Given the description of an element on the screen output the (x, y) to click on. 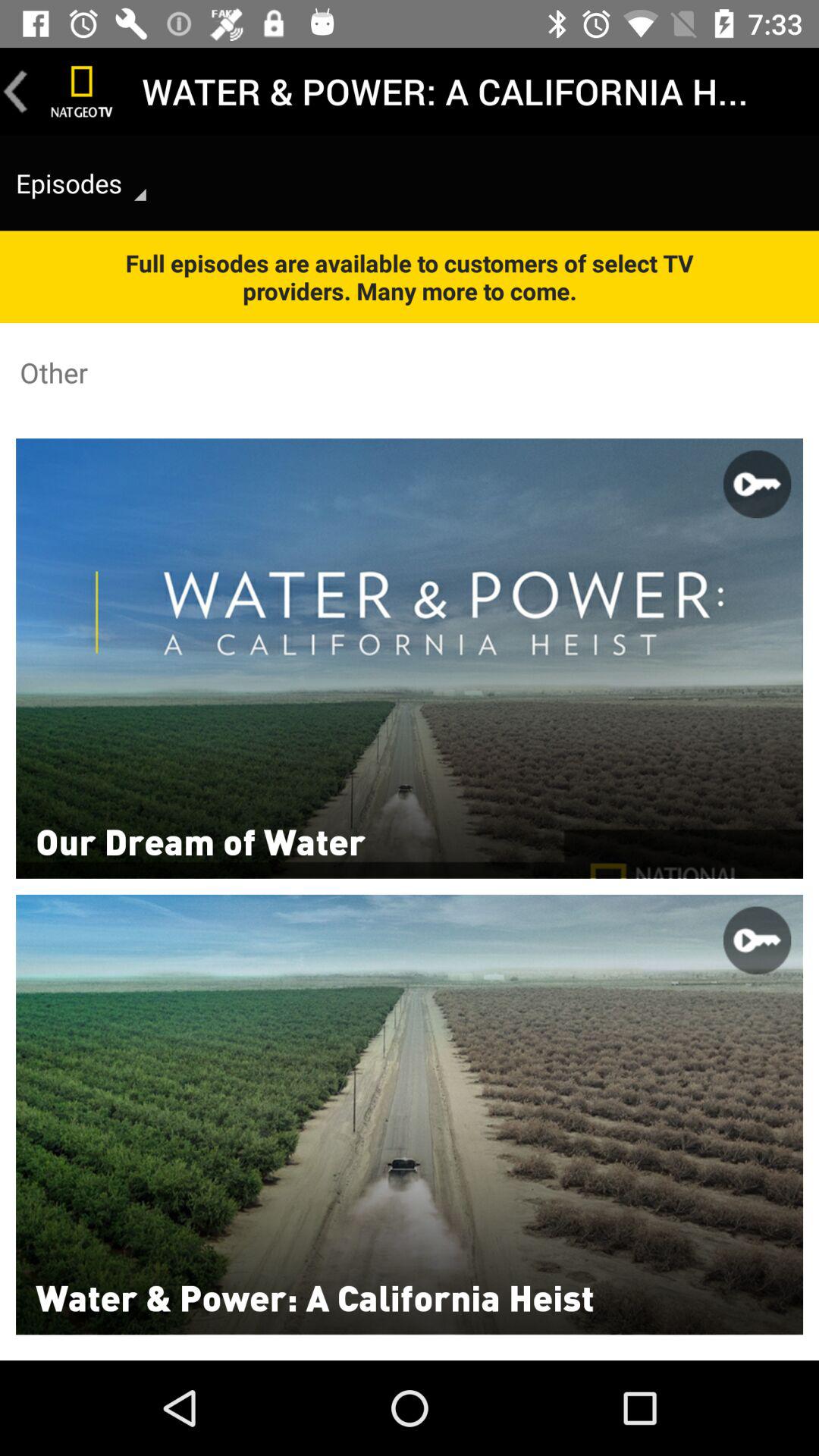
go back (15, 91)
